Given the description of an element on the screen output the (x, y) to click on. 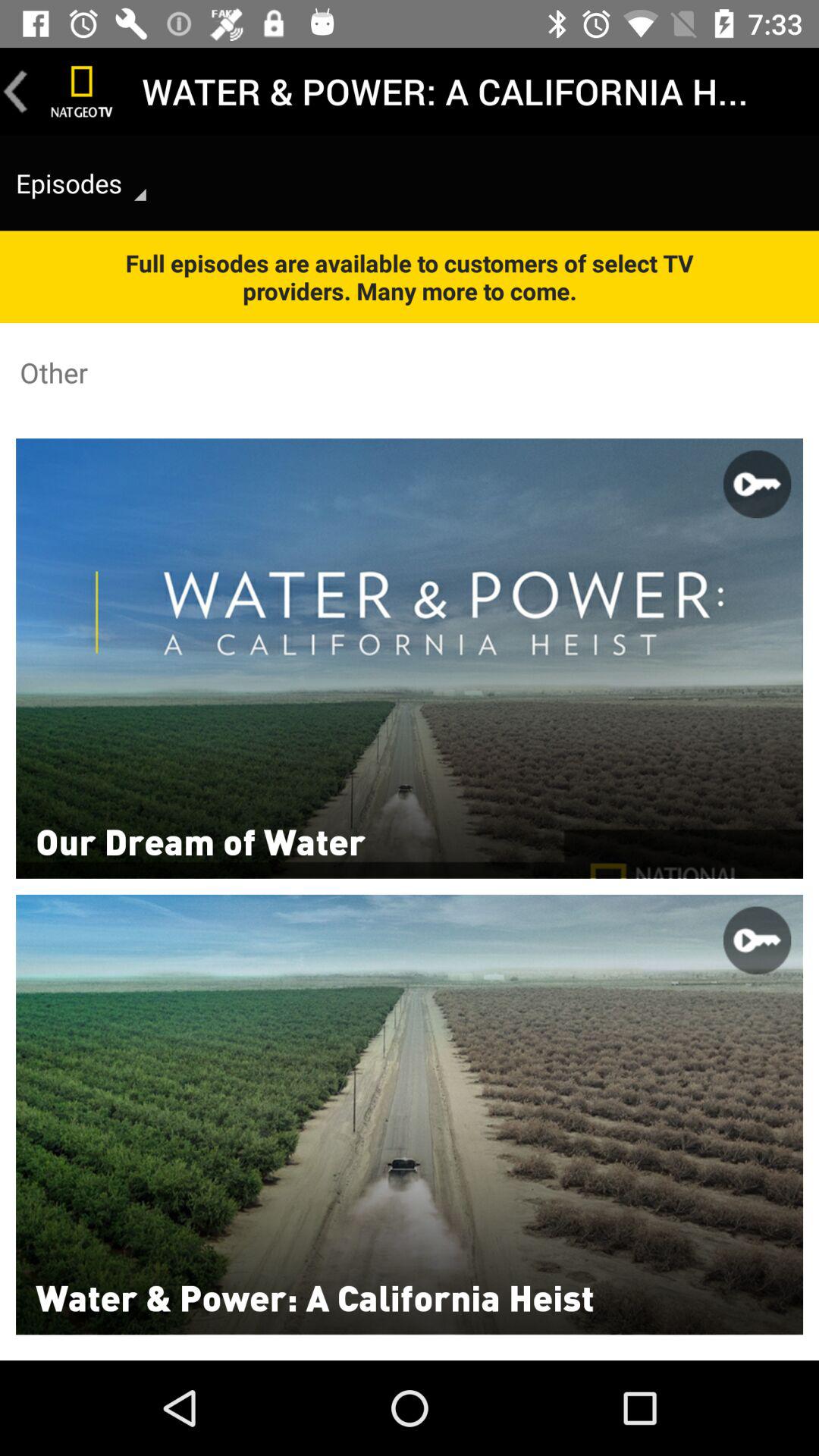
go back (15, 91)
